Given the description of an element on the screen output the (x, y) to click on. 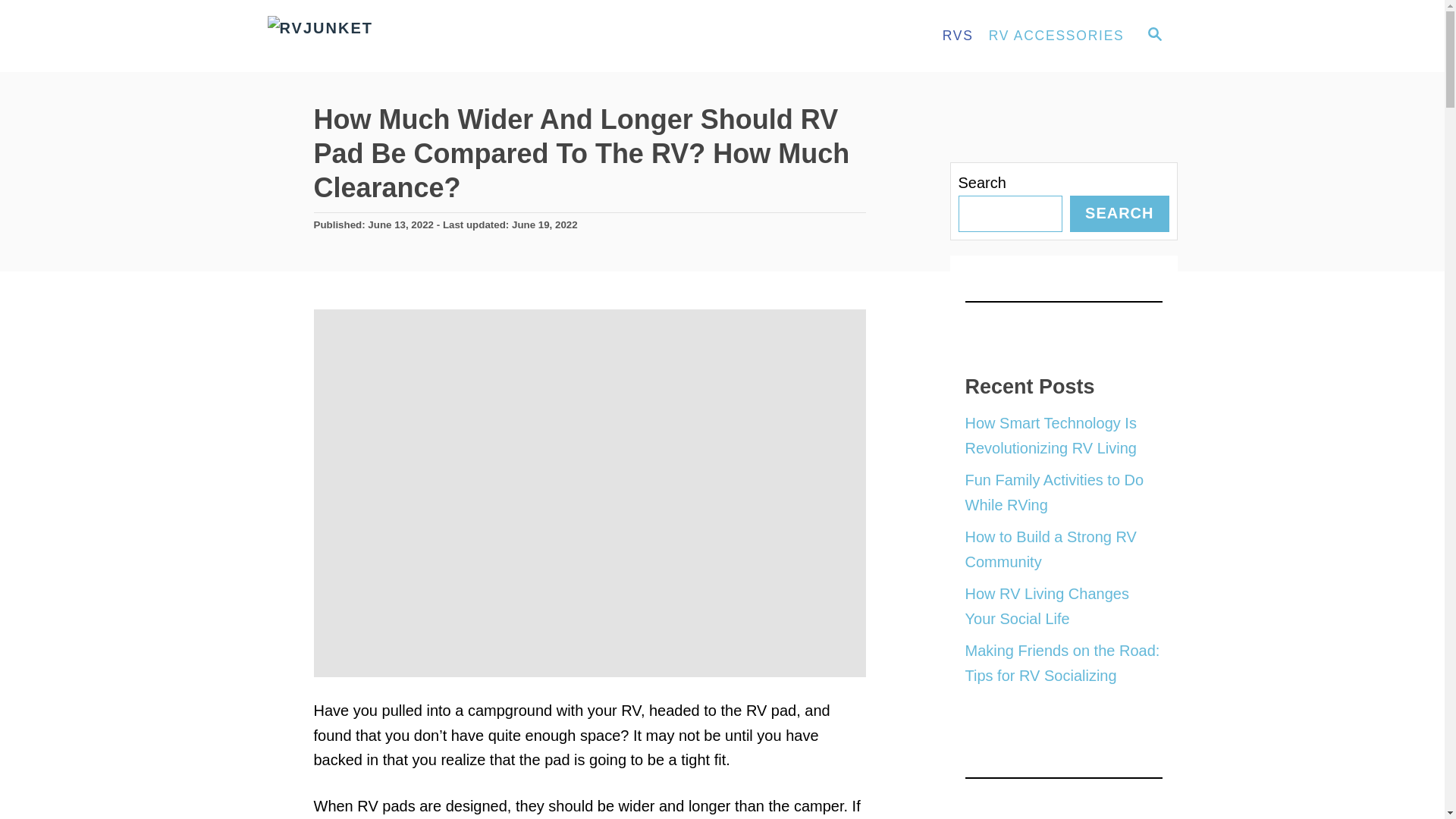
Fun Family Activities to Do While RVing (1052, 492)
RV ACCESSORIES (1056, 36)
Making Friends on the Road: Tips for RV Socializing (1060, 662)
SEARCH (1119, 213)
How Smart Technology Is Revolutionizing RV Living (1049, 435)
SEARCH (1153, 35)
RVJunket (403, 36)
How RV Living Changes Your Social Life (1045, 606)
How to Build a Strong RV Community (1049, 549)
RVS (957, 36)
